Given the description of an element on the screen output the (x, y) to click on. 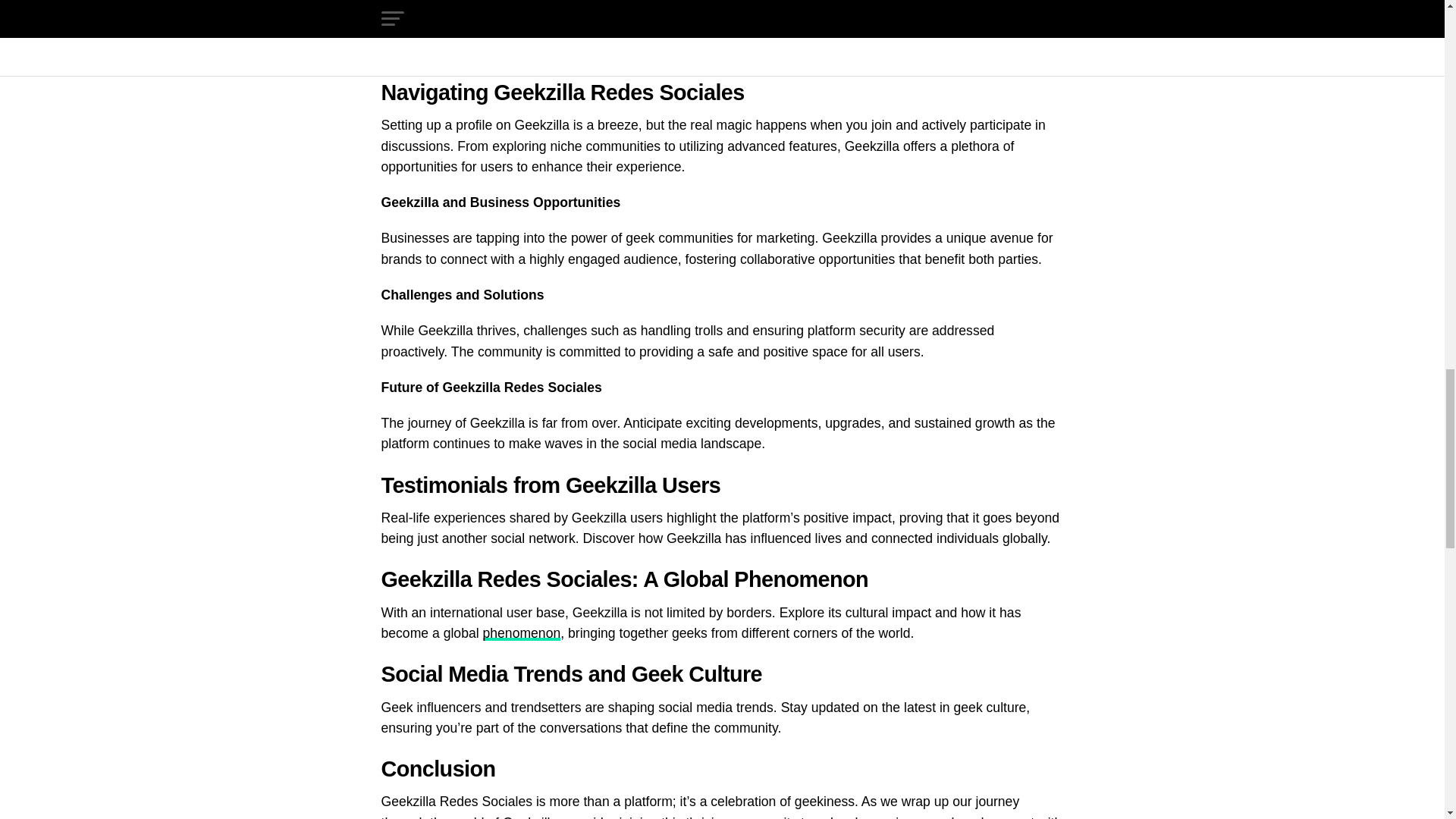
phenomenon (520, 632)
